Given the description of an element on the screen output the (x, y) to click on. 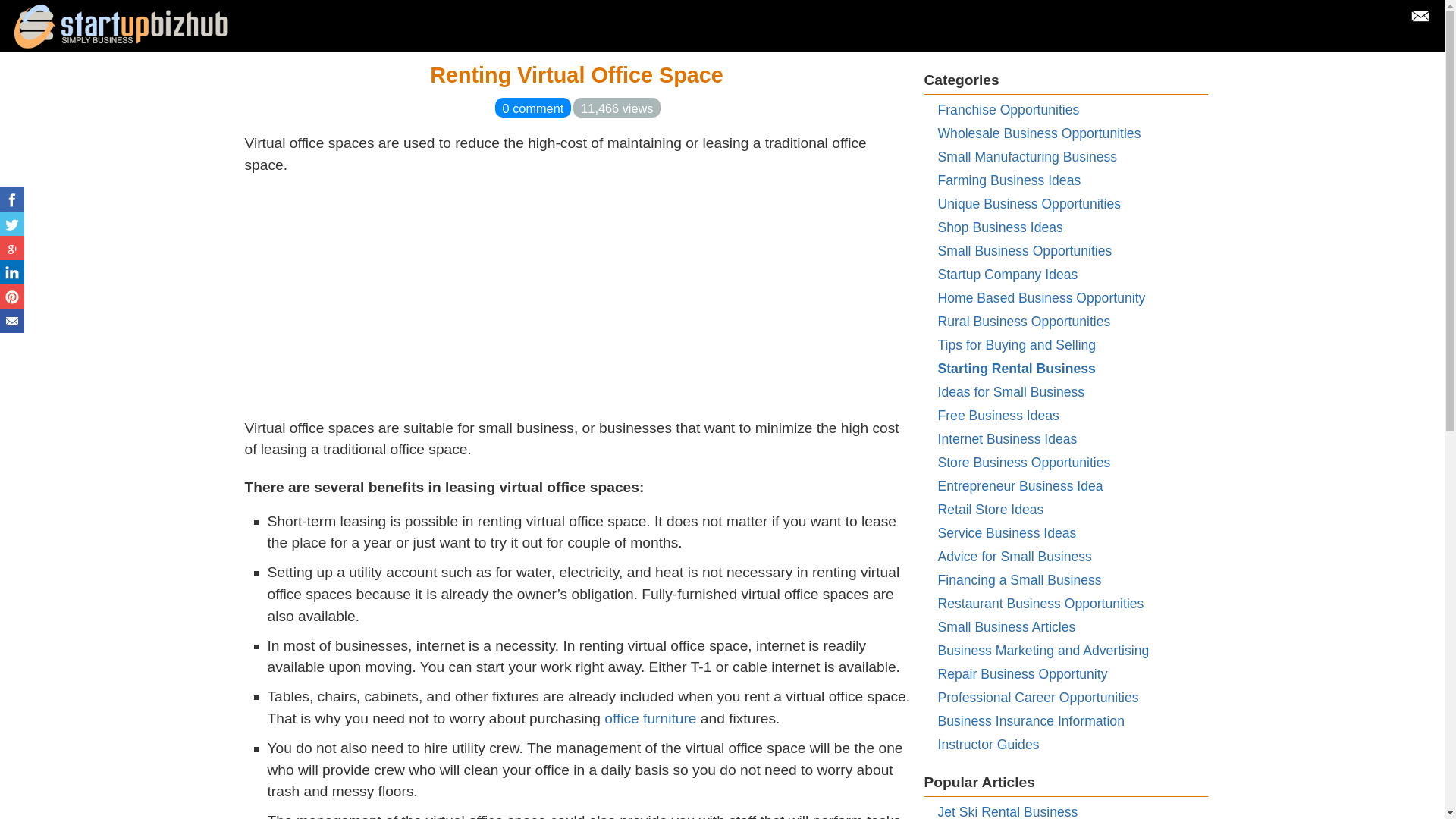
Farming Business Ideas (1008, 180)
Business Insurance Information (1030, 720)
Repair Business Opportunity (1021, 673)
Free Business Ideas (997, 415)
Store Business Opportunities (1023, 462)
Internet Business Ideas (1007, 438)
Tips for Buying and Selling (1016, 344)
Instructor Guides (988, 744)
Shop Business Ideas (999, 227)
Small Business Articles (1006, 626)
